Given the description of an element on the screen output the (x, y) to click on. 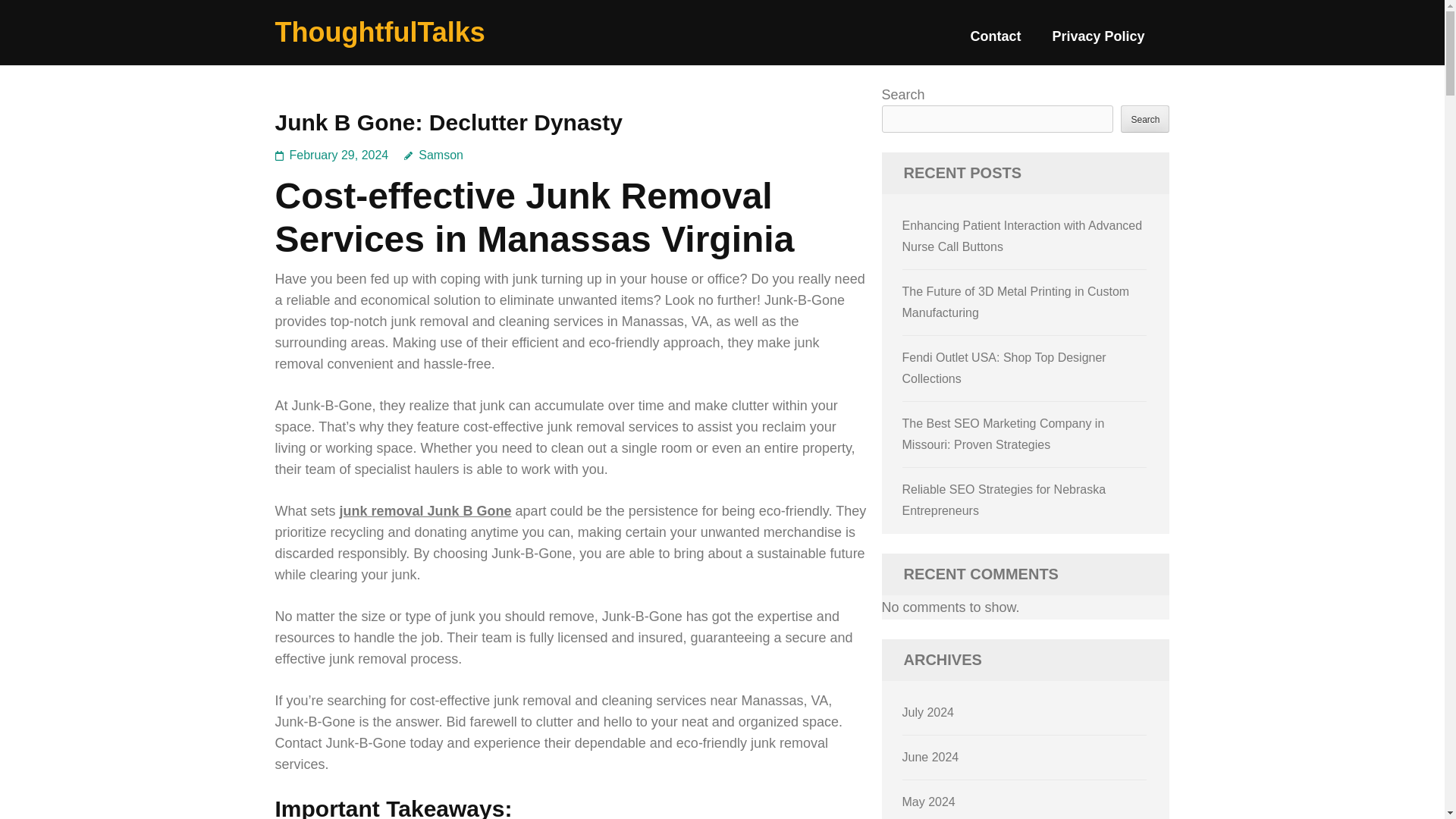
junk removal Junk B Gone (425, 510)
Samson (433, 154)
May 2024 (928, 801)
Privacy Policy (1097, 42)
Contact (994, 42)
ThoughtfulTalks (379, 31)
July 2024 (928, 712)
Fendi Outlet USA: Shop Top Designer Collections (1004, 367)
The Future of 3D Metal Printing in Custom Manufacturing (1015, 302)
Search (1145, 118)
June 2024 (930, 757)
February 29, 2024 (338, 154)
Reliable SEO Strategies for Nebraska Entrepreneurs (1004, 499)
